Given the description of an element on the screen output the (x, y) to click on. 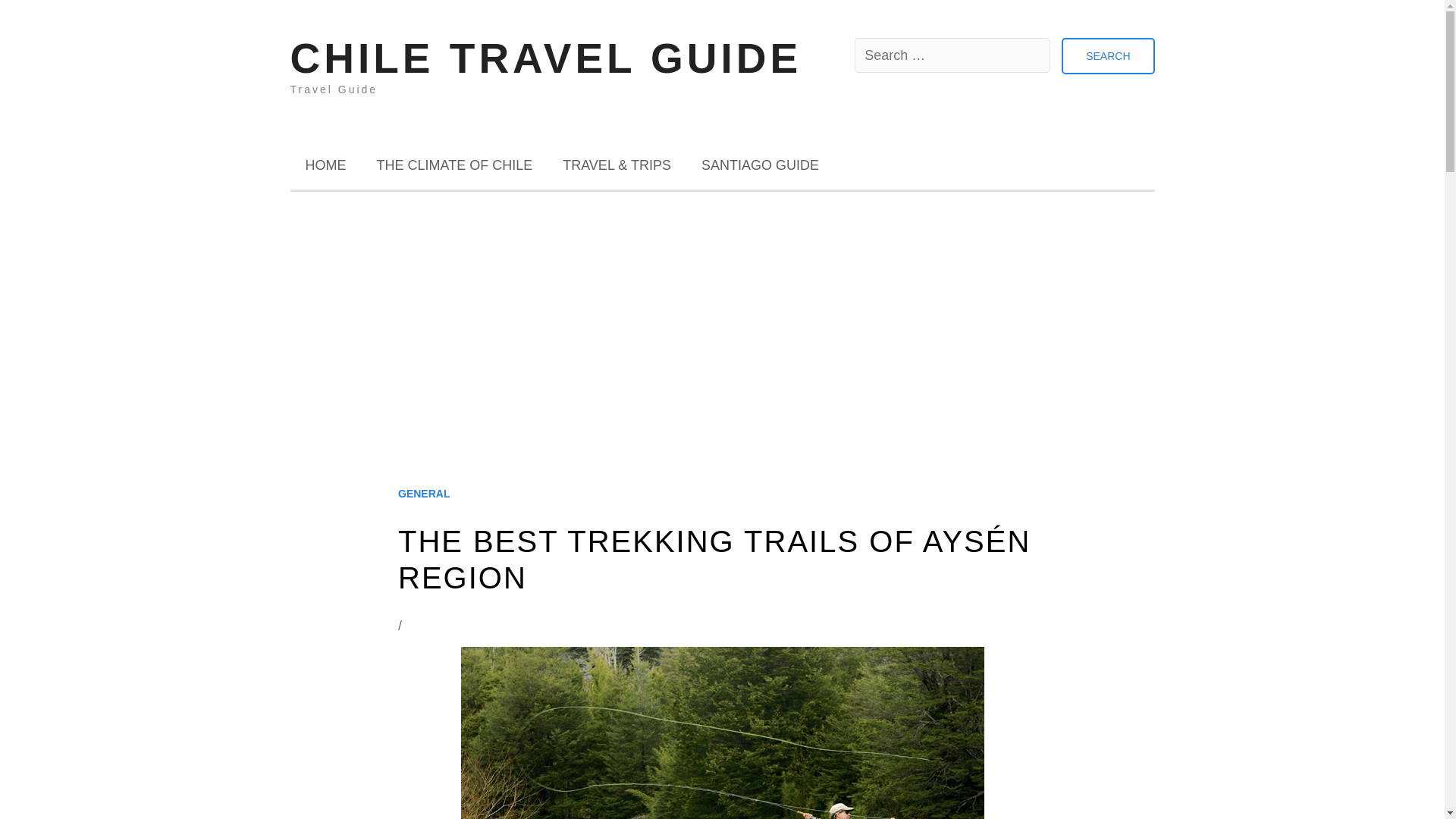
CHILE TRAVEL GUIDE (545, 58)
Search (1107, 55)
Search (1107, 55)
THE CLIMATE OF CHILE (454, 165)
SANTIAGO GUIDE (759, 165)
Search (1107, 55)
GENERAL (423, 494)
HOME (325, 165)
